Given the description of an element on the screen output the (x, y) to click on. 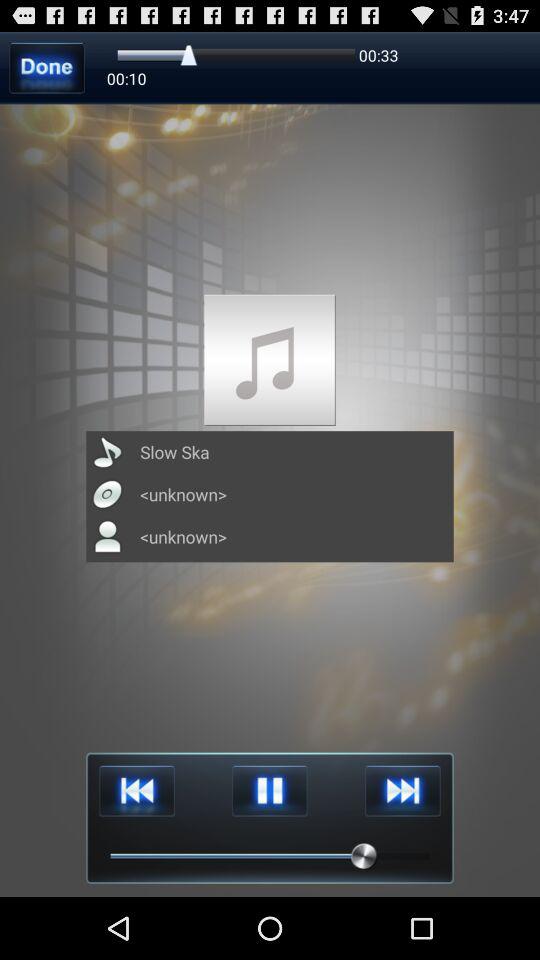
previous track (136, 790)
